Given the description of an element on the screen output the (x, y) to click on. 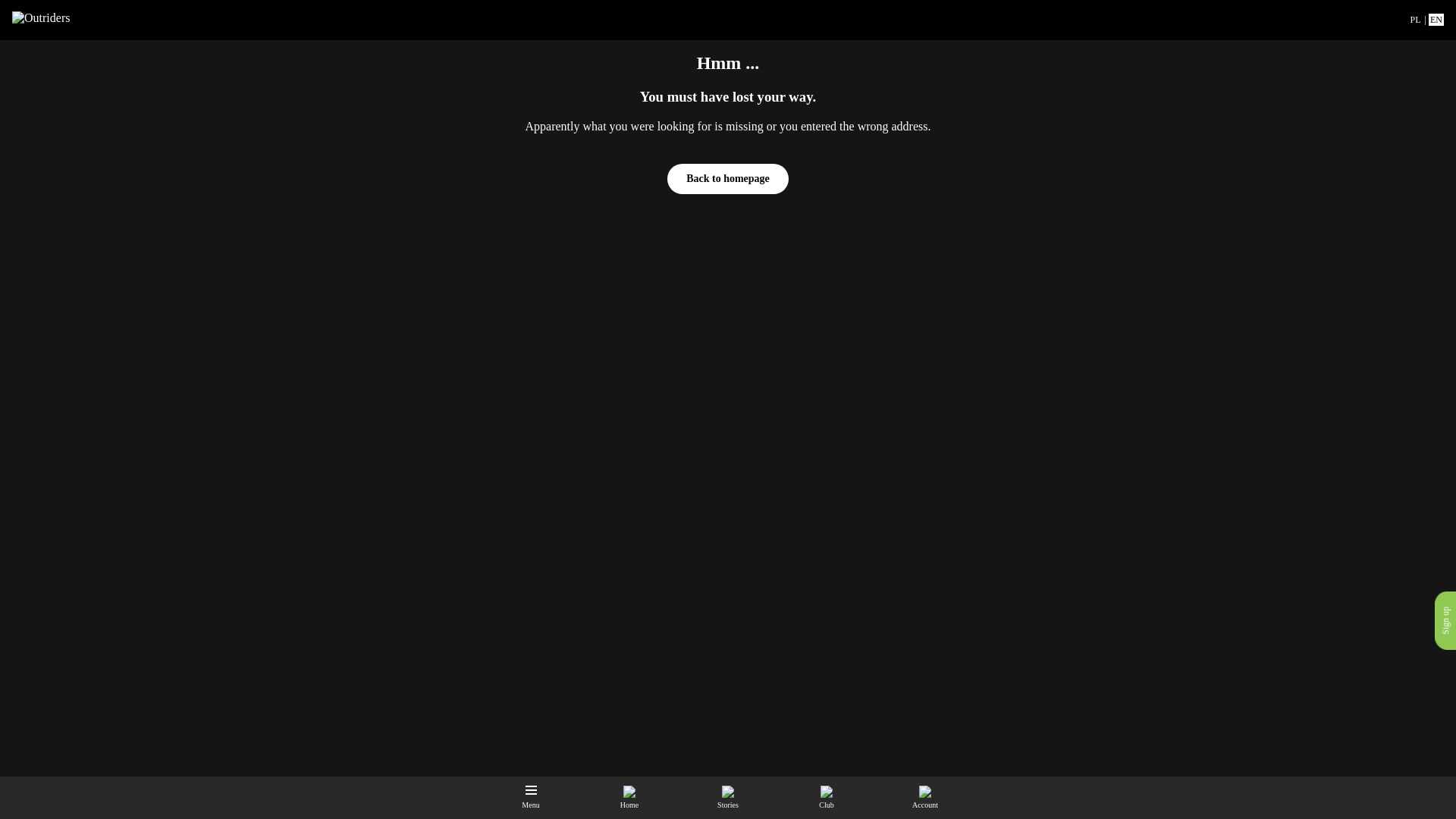
Back to homepage (727, 178)
PL (1415, 19)
EN (1436, 19)
